Given the description of an element on the screen output the (x, y) to click on. 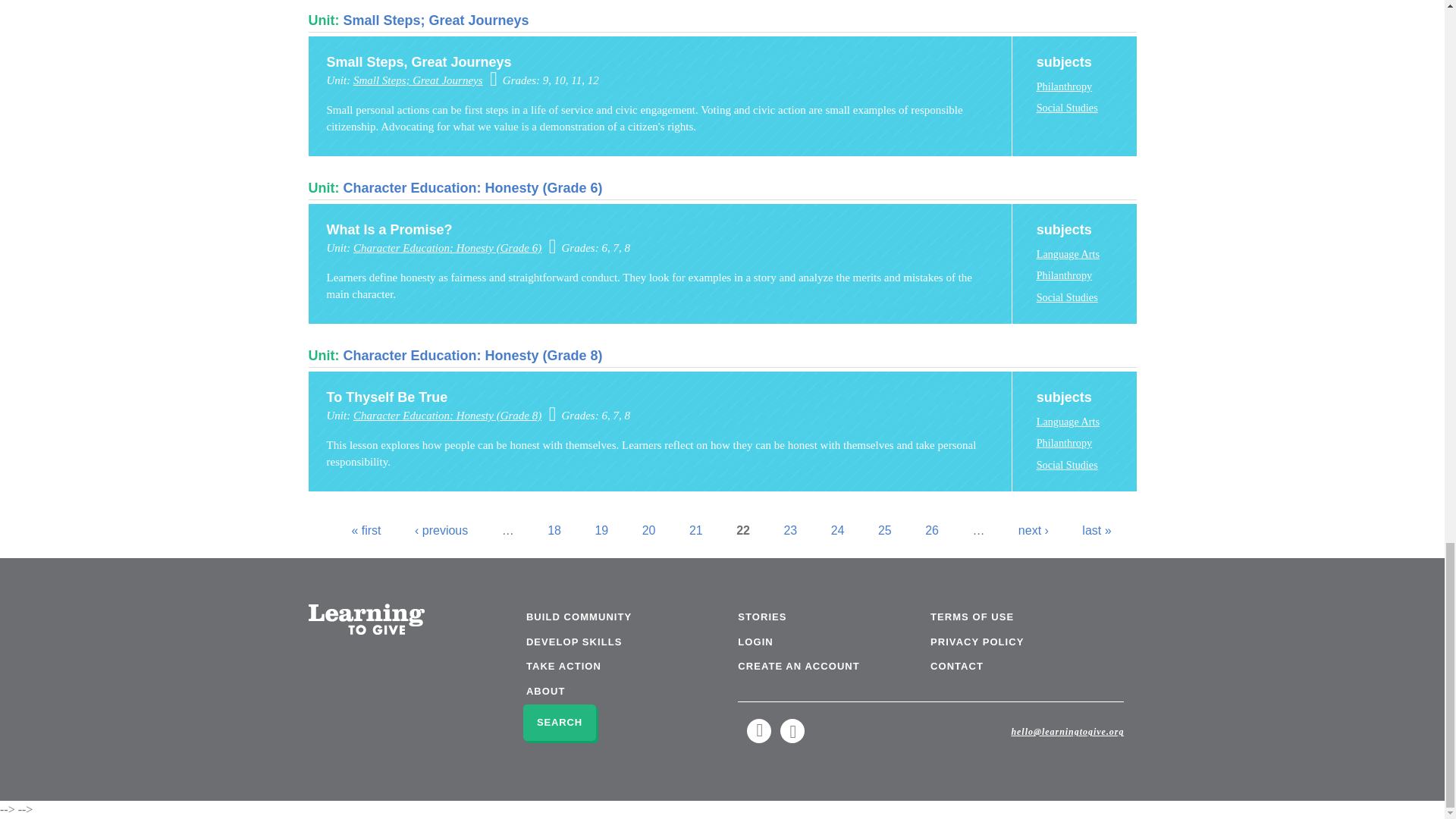
Go to page 20 (649, 530)
Go to previous page (440, 530)
Go to page 18 (553, 530)
Go to page 21 (695, 530)
Go to first page (365, 530)
Go to page 19 (601, 530)
